Given the description of an element on the screen output the (x, y) to click on. 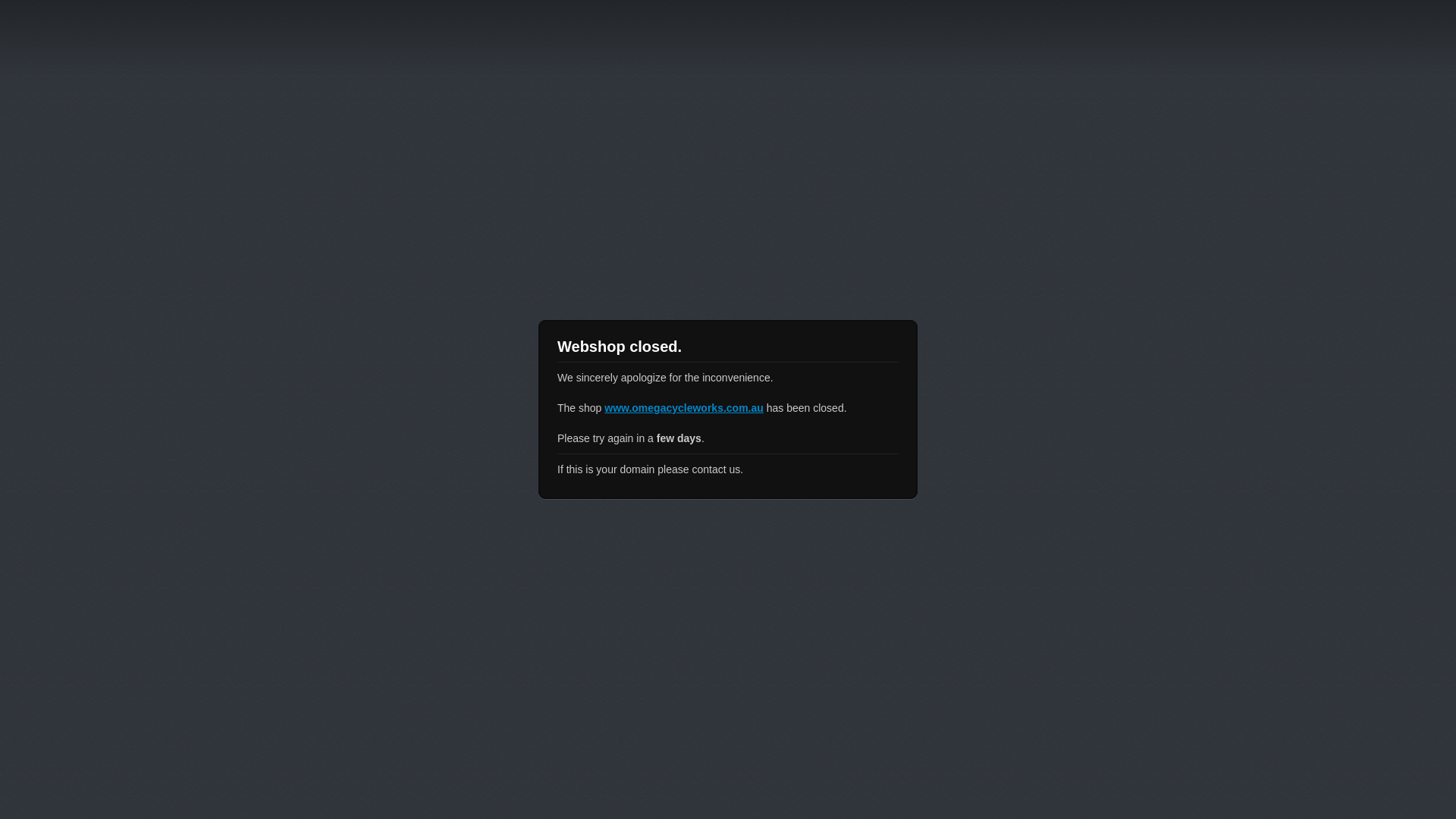
www.omegacycleworks.com.au Element type: text (683, 407)
